Given the description of an element on the screen output the (x, y) to click on. 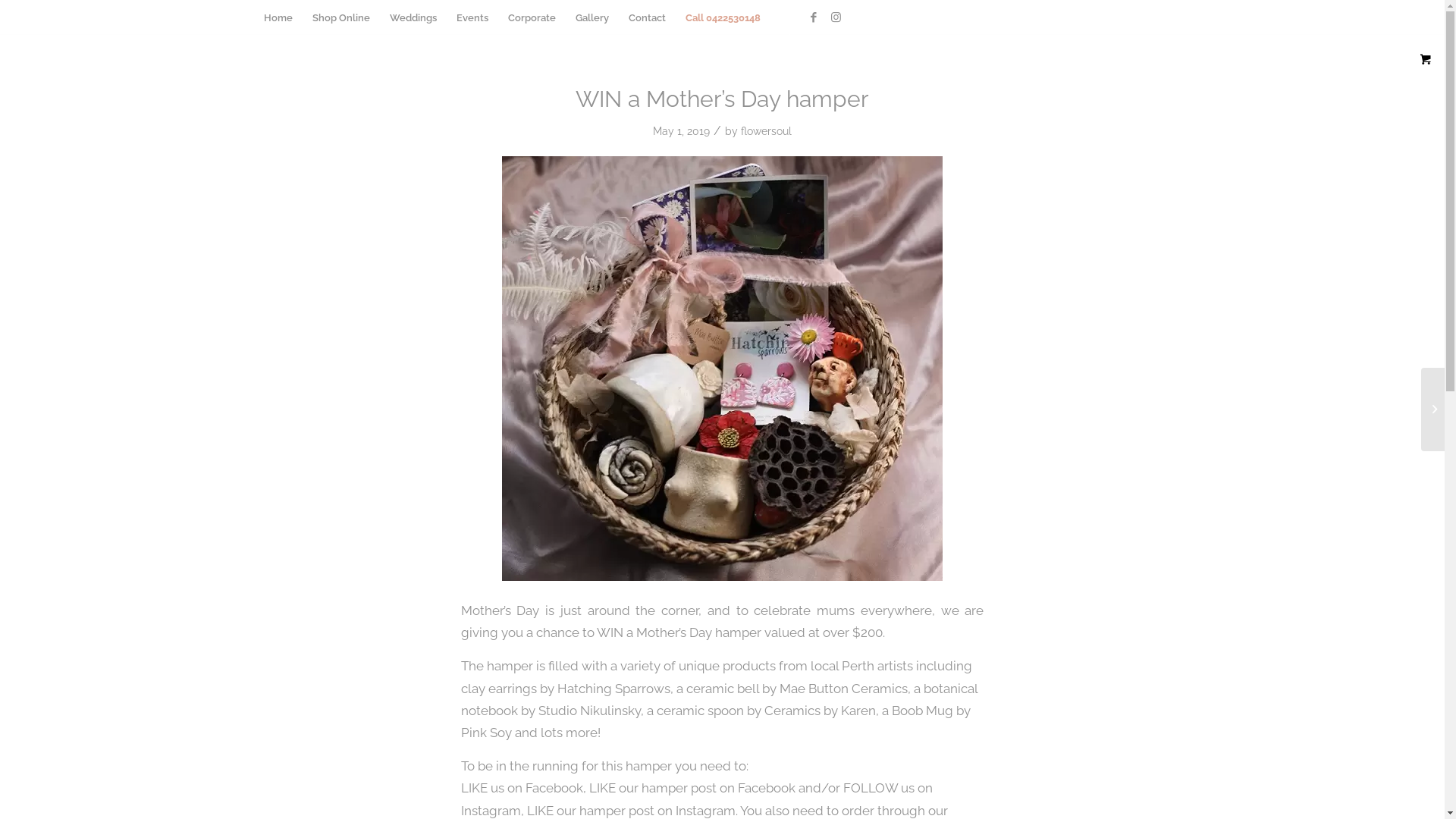
flowersoul Element type: text (765, 131)
Gallery Element type: text (591, 17)
Events Element type: text (471, 17)
Facebook Element type: hover (813, 17)
Instagram Element type: hover (836, 17)
clear Element type: hover (1179, 17)
Home Element type: text (277, 17)
Corporate Element type: text (530, 17)
Call 0422530148 Element type: text (721, 17)
Weddings Element type: text (412, 17)
clear Element type: hover (1179, 0)
Contact Element type: text (646, 17)
Shop Online Element type: text (340, 17)
